Given the description of an element on the screen output the (x, y) to click on. 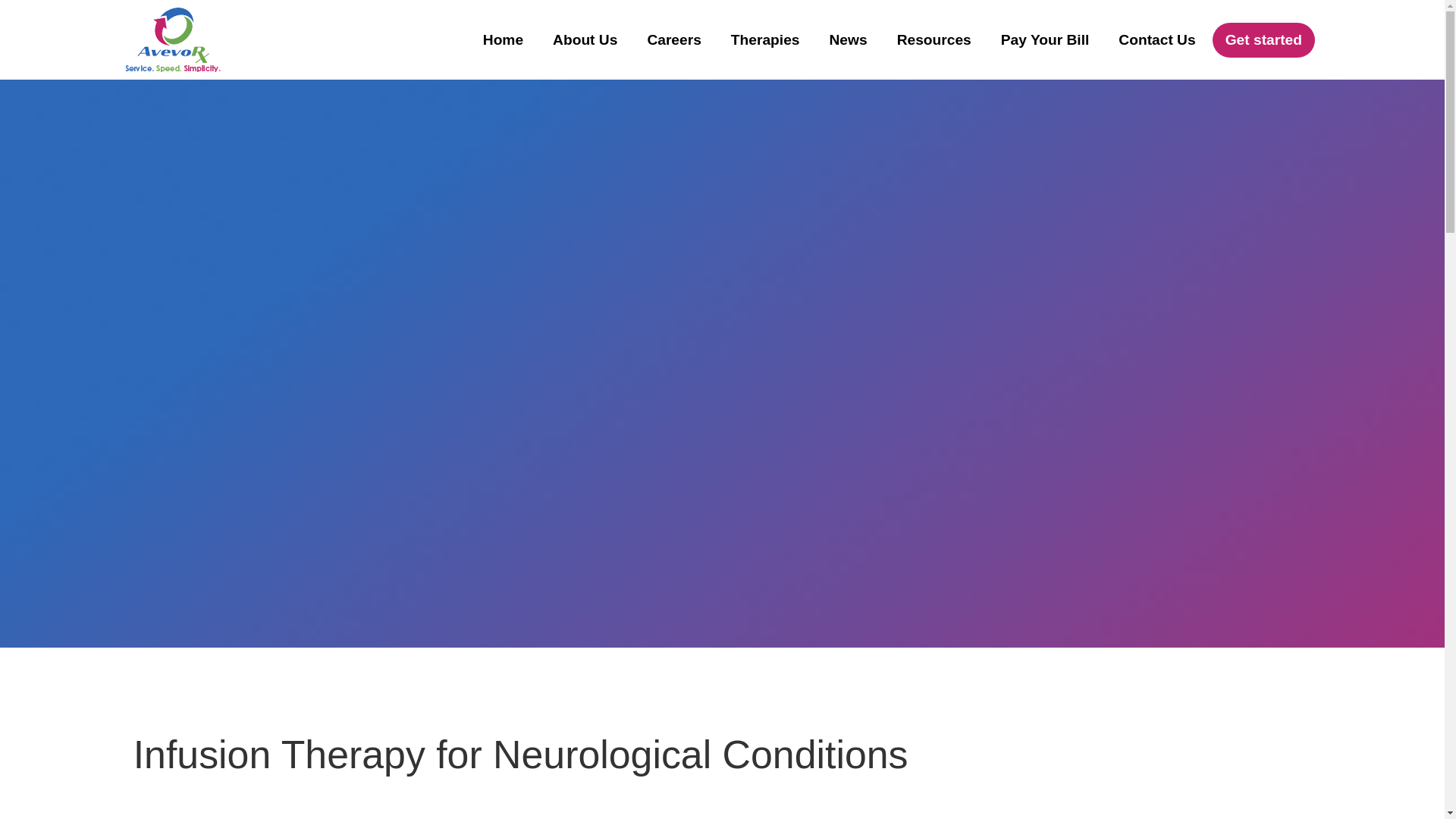
Therapies (764, 39)
Contact Us (1156, 39)
Get started (1263, 39)
Resources (933, 39)
Pay Your Bill (1045, 39)
Careers (673, 39)
Home (502, 39)
News (848, 39)
About Us (585, 39)
